Given the description of an element on the screen output the (x, y) to click on. 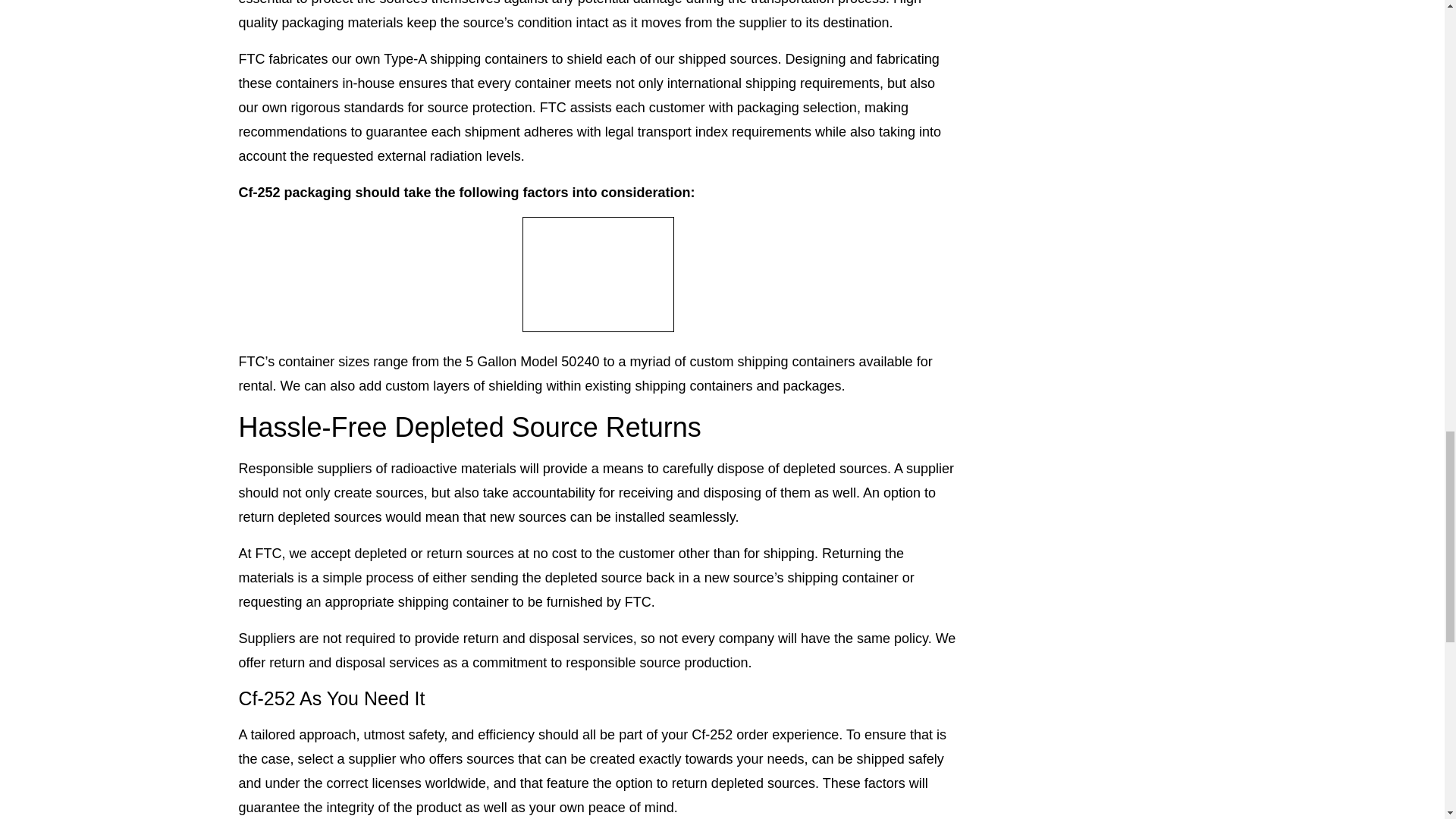
Cf-252 Packaging (598, 274)
